Given the description of an element on the screen output the (x, y) to click on. 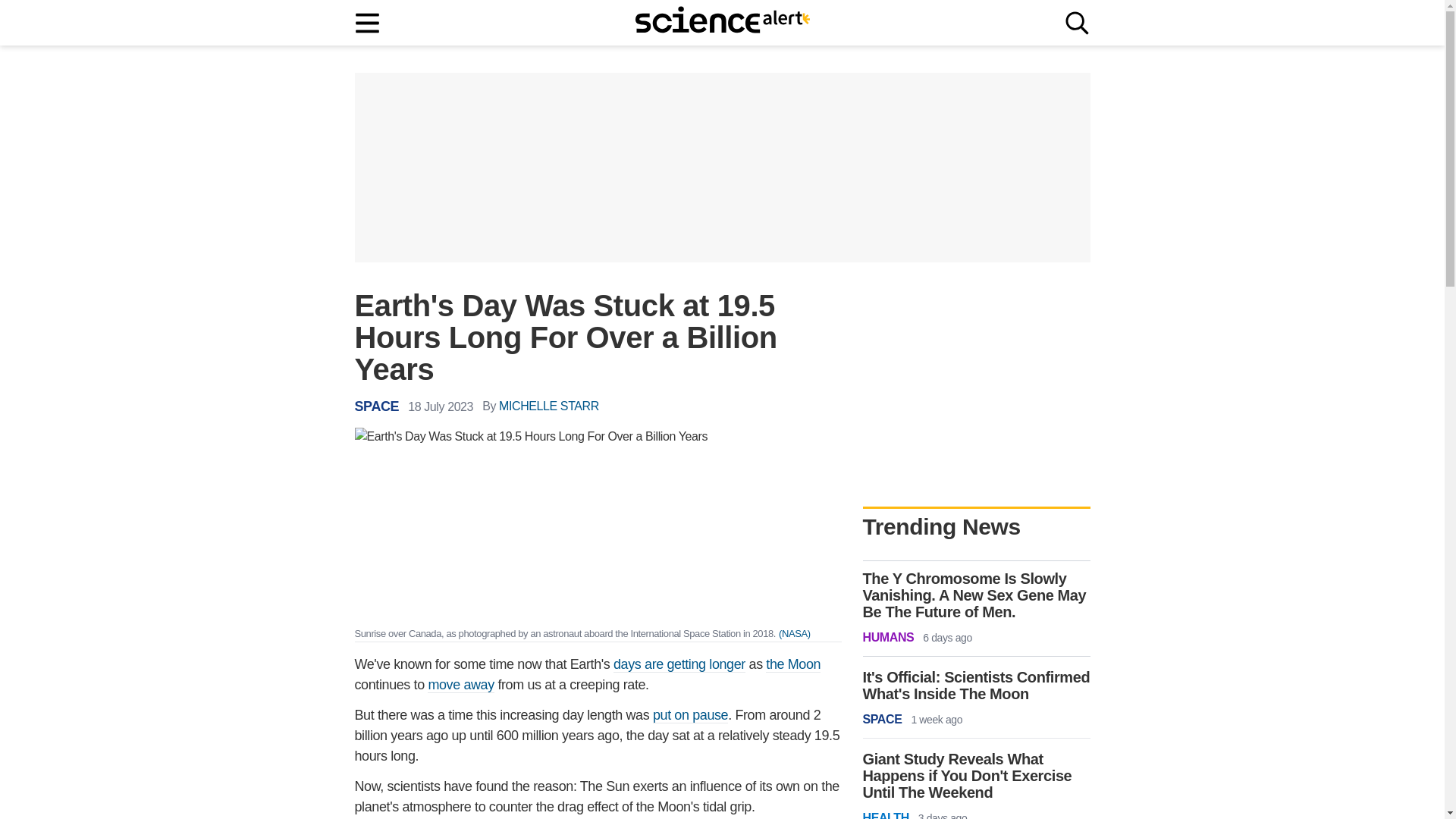
days are getting longer (678, 664)
the Moon (793, 664)
move away (460, 684)
SPACE (376, 406)
put on pause (690, 715)
MICHELLE STARR (548, 405)
